Given the description of an element on the screen output the (x, y) to click on. 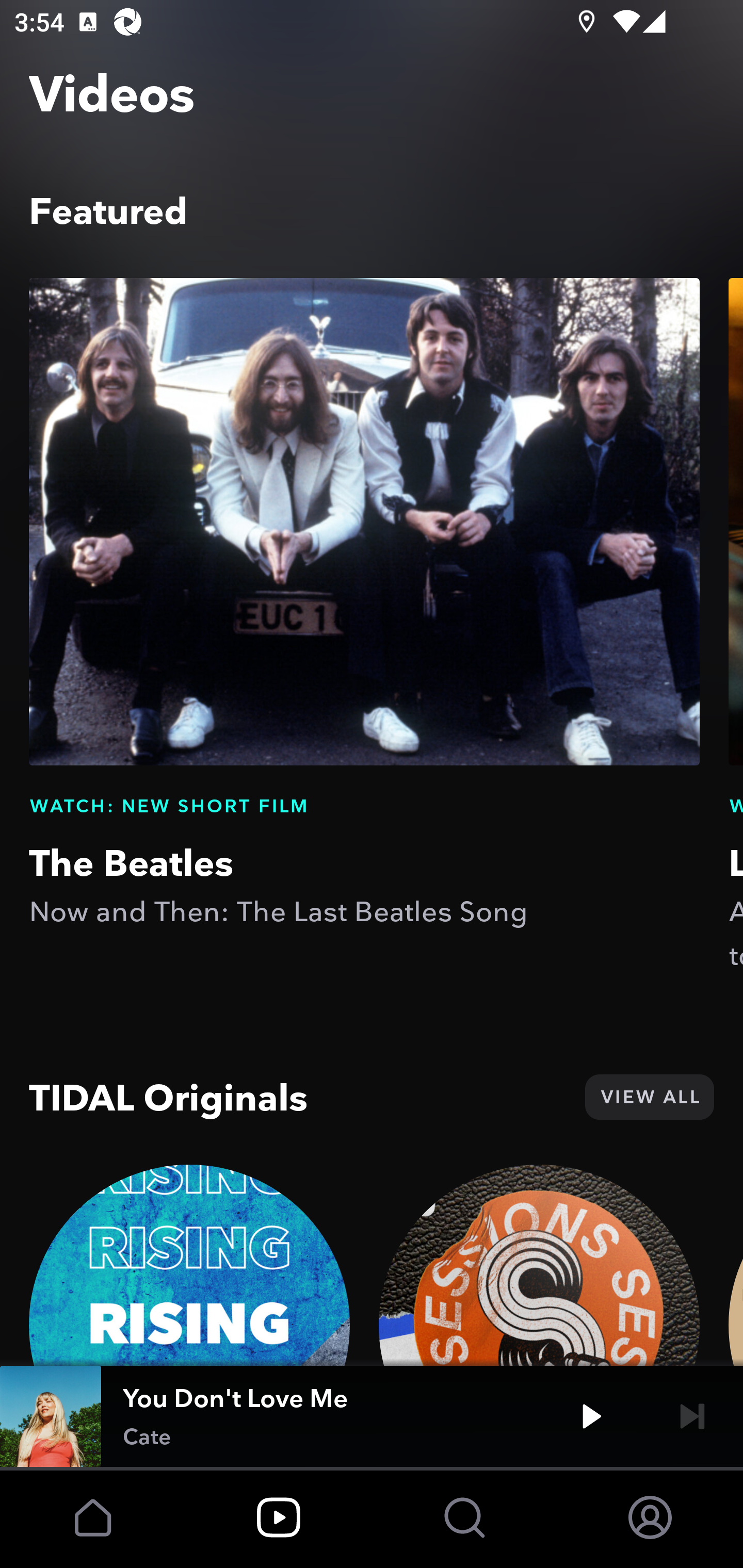
VIEW ALL (649, 1096)
You Don't Love Me Cate Play (371, 1416)
Play (590, 1416)
